Given the description of an element on the screen output the (x, y) to click on. 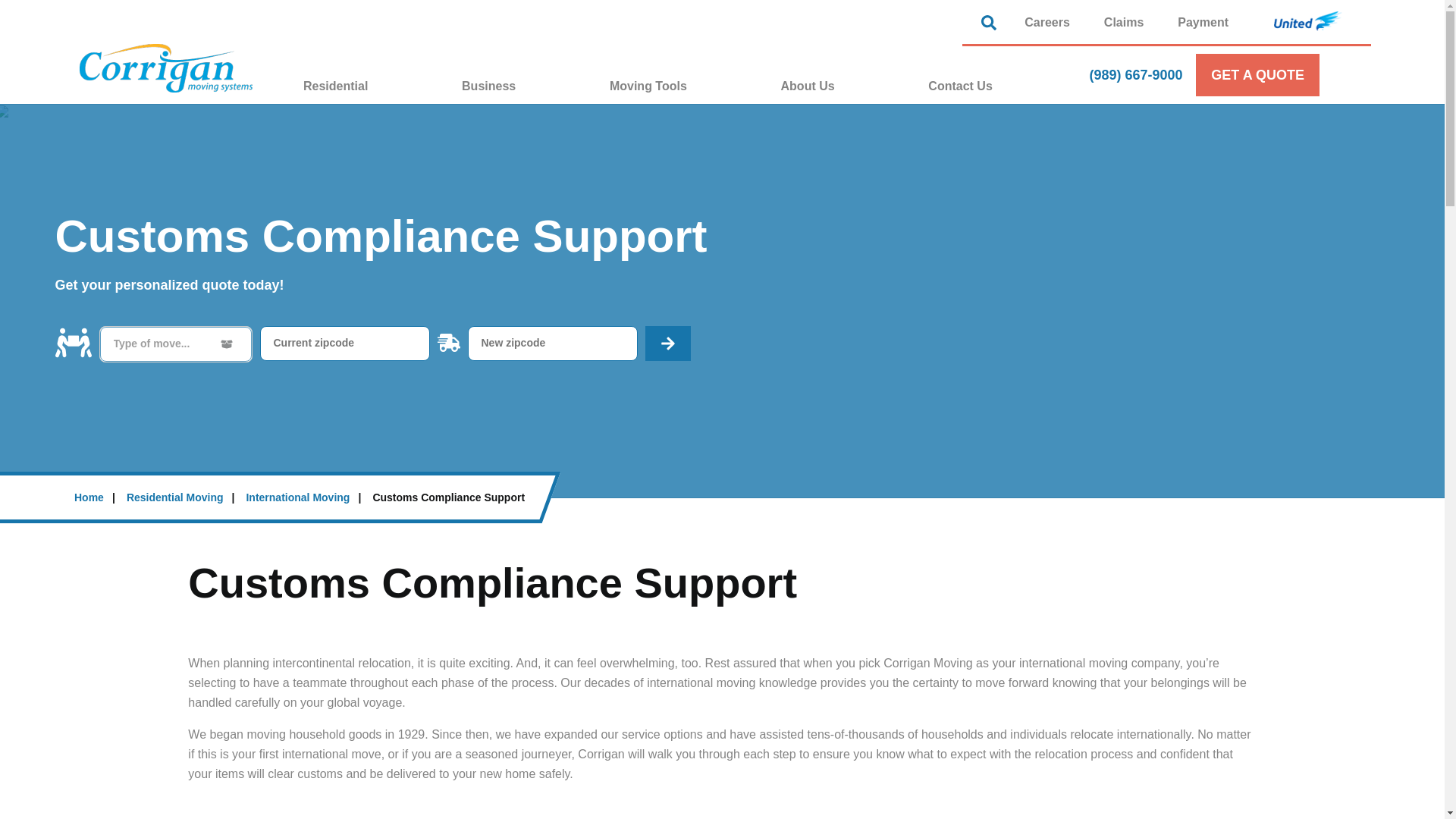
Careers (1046, 21)
Corrigan Moving Home (165, 68)
Corrigan Moving Payment Portal (1203, 21)
Residential (372, 86)
Payment (1203, 21)
Claims (1123, 21)
Open Search (992, 22)
